Given the description of an element on the screen output the (x, y) to click on. 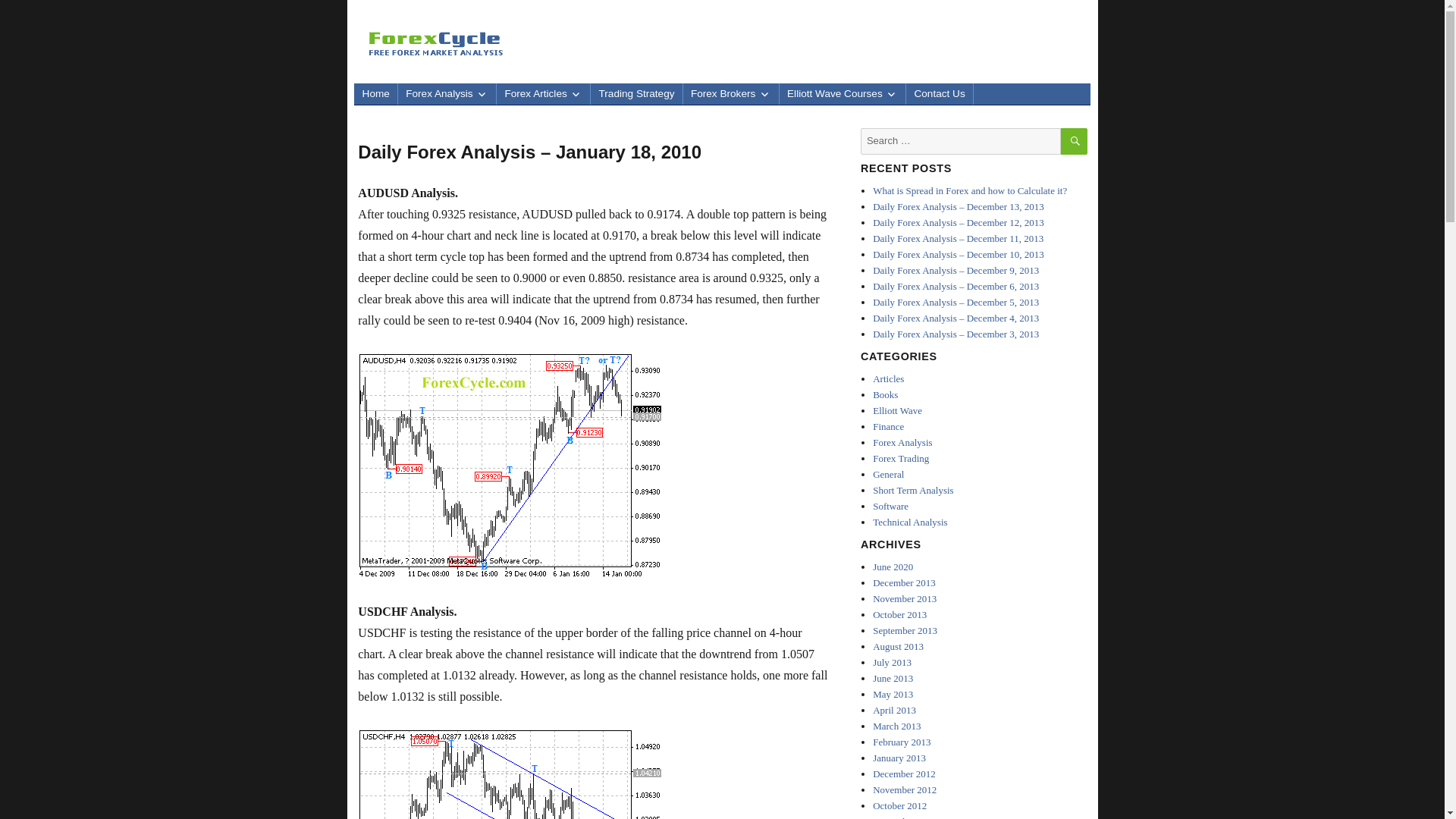
Forex Analysis (446, 93)
Elliott Wave Courses (841, 93)
Trading Strategy (636, 93)
Home (375, 93)
Contact Us (938, 93)
Forex Brokers (730, 93)
Forex Articles (542, 93)
